Given the description of an element on the screen output the (x, y) to click on. 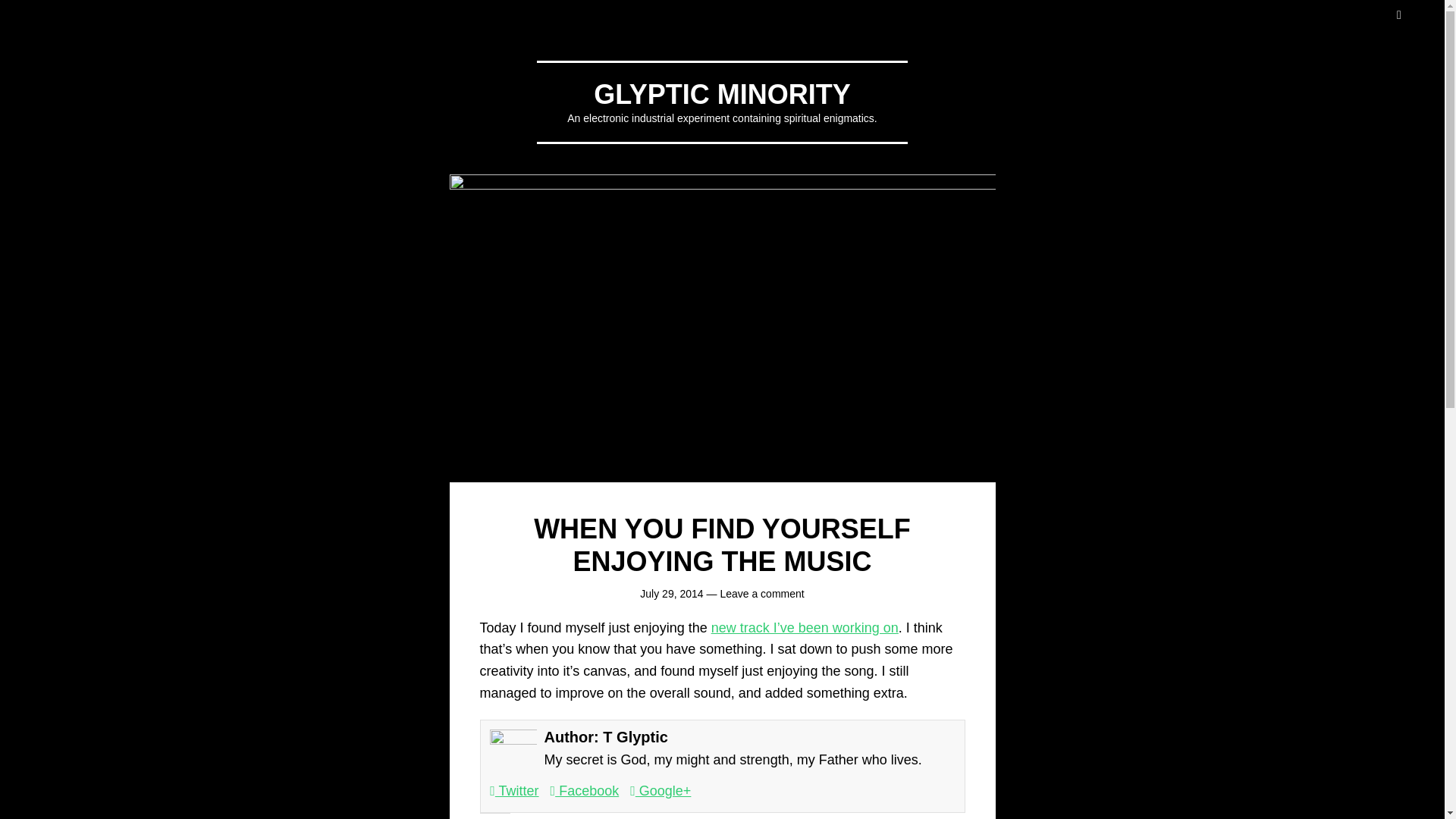
SKIP TO CONTENT (7, 7)
Twitter (513, 790)
GLYPTIC MINORITY (722, 93)
Leave a comment (761, 592)
Facebook (585, 790)
July 29, 2014 (671, 592)
8:37 pm (671, 592)
